Given the description of an element on the screen output the (x, y) to click on. 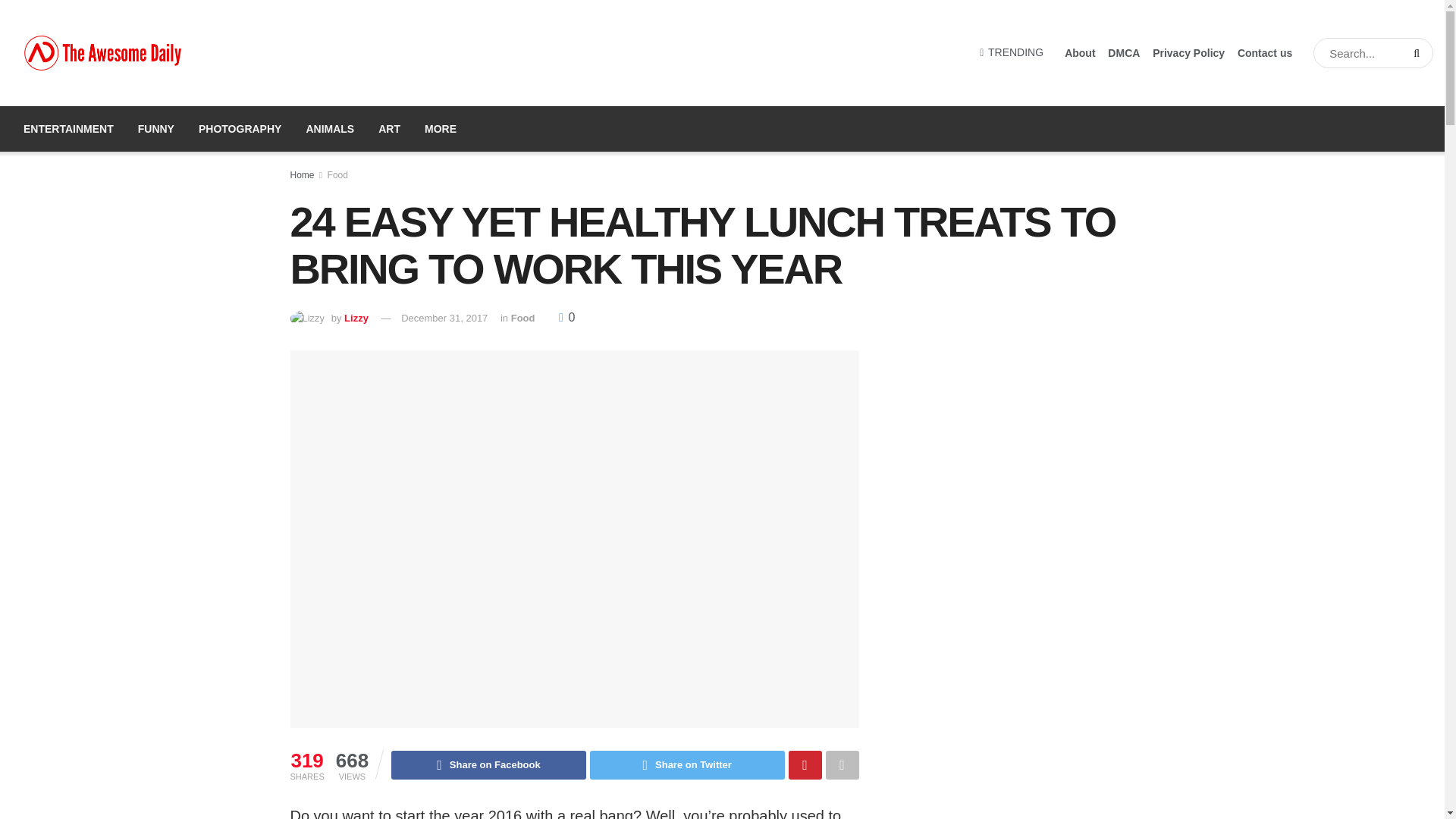
MORE (440, 128)
ENTERTAINMENT (68, 128)
December 31, 2017 (444, 317)
Lizzy (355, 317)
PHOTOGRAPHY (240, 128)
Home (301, 174)
Share on Facebook (488, 765)
0 (567, 317)
ANIMALS (330, 128)
Privacy Policy (1188, 53)
